Given the description of an element on the screen output the (x, y) to click on. 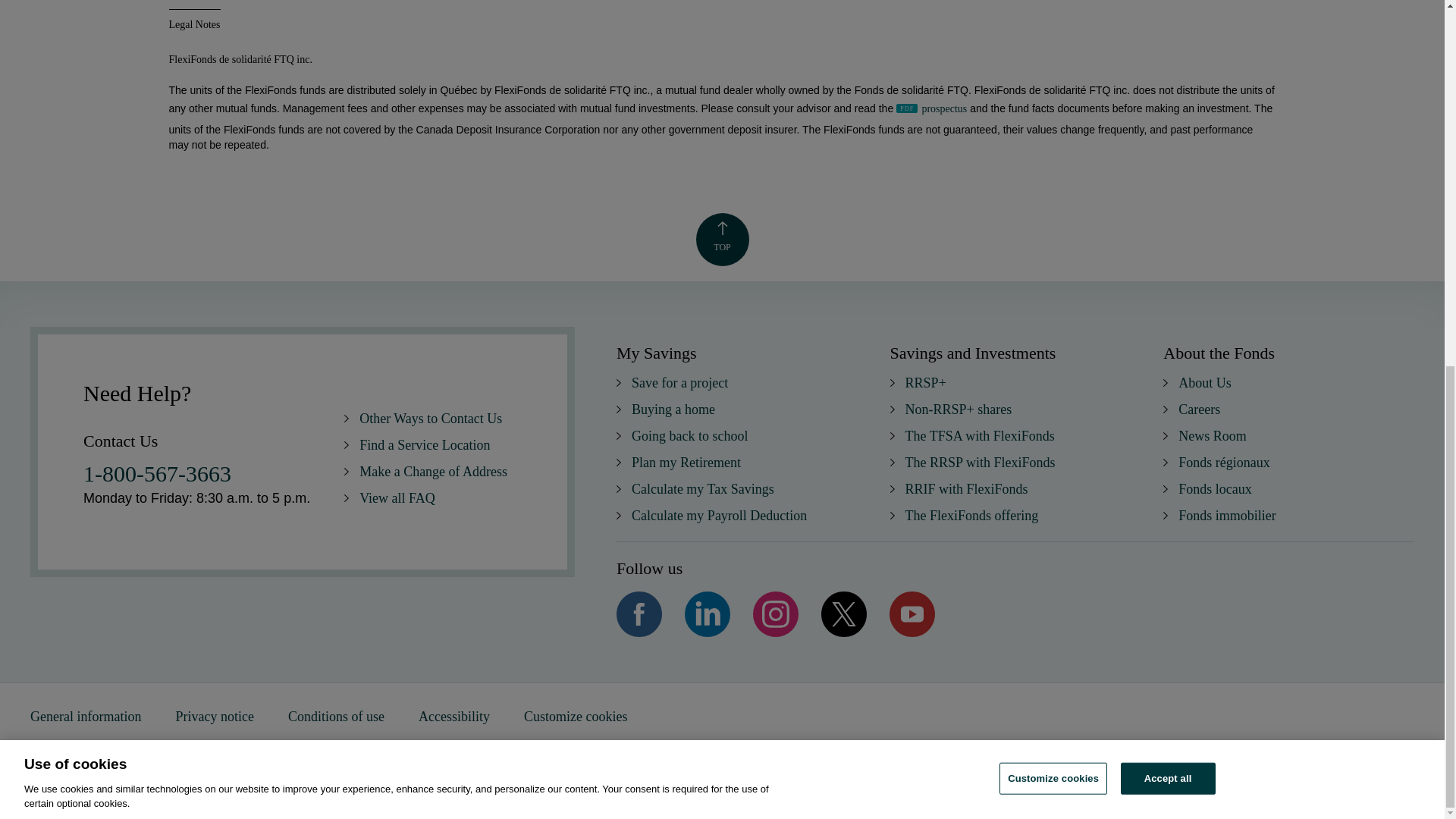
Conditions of use (336, 716)
Fonds locaux (1214, 488)
Fonds immobilier (1226, 515)
Go to top (722, 239)
Accessibility (454, 716)
Privacy notice (213, 716)
General information (85, 716)
Regional Funds (1223, 462)
News Room (1211, 435)
